Given the description of an element on the screen output the (x, y) to click on. 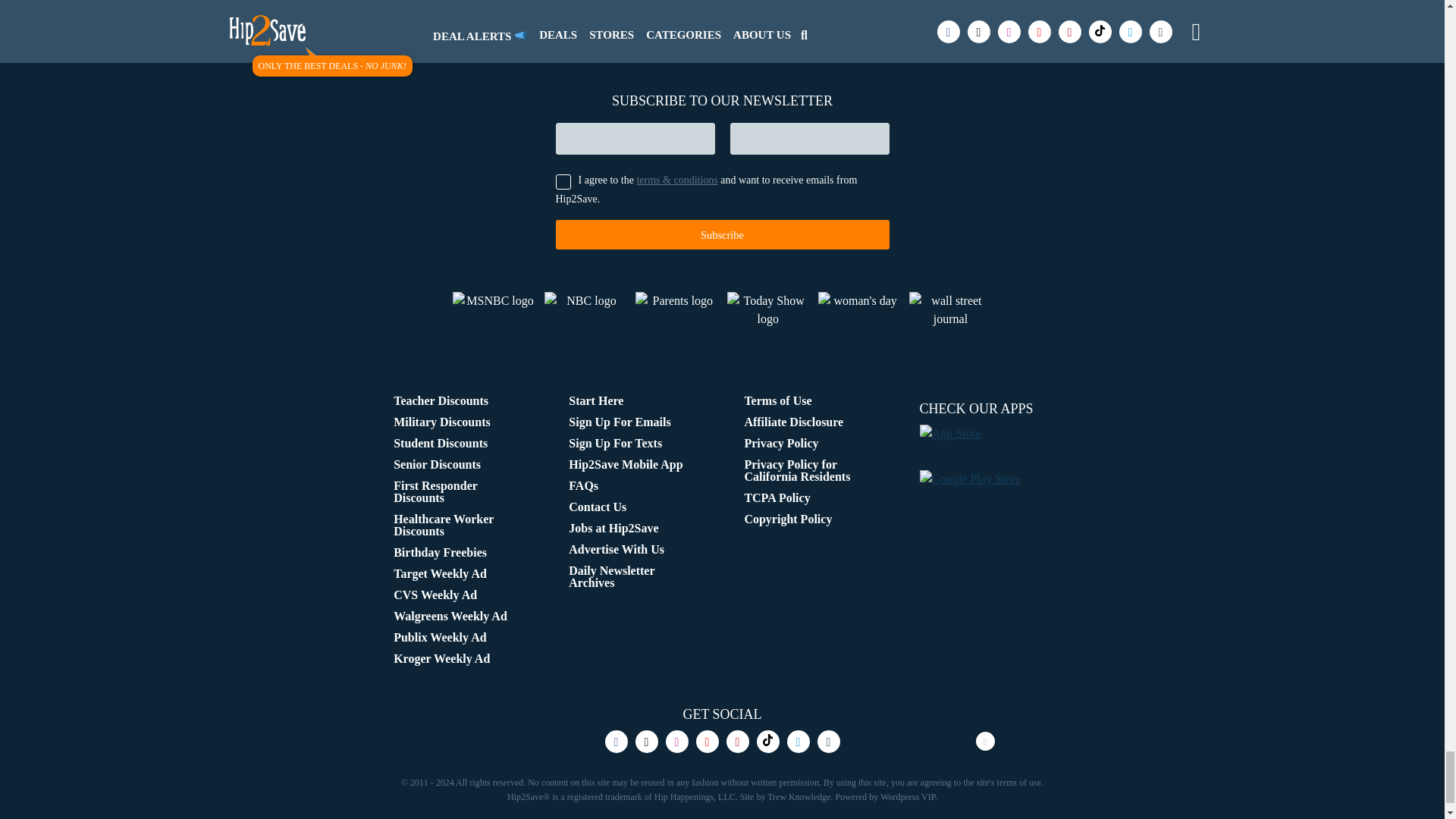
Subscribe (721, 234)
